Given the description of an element on the screen output the (x, y) to click on. 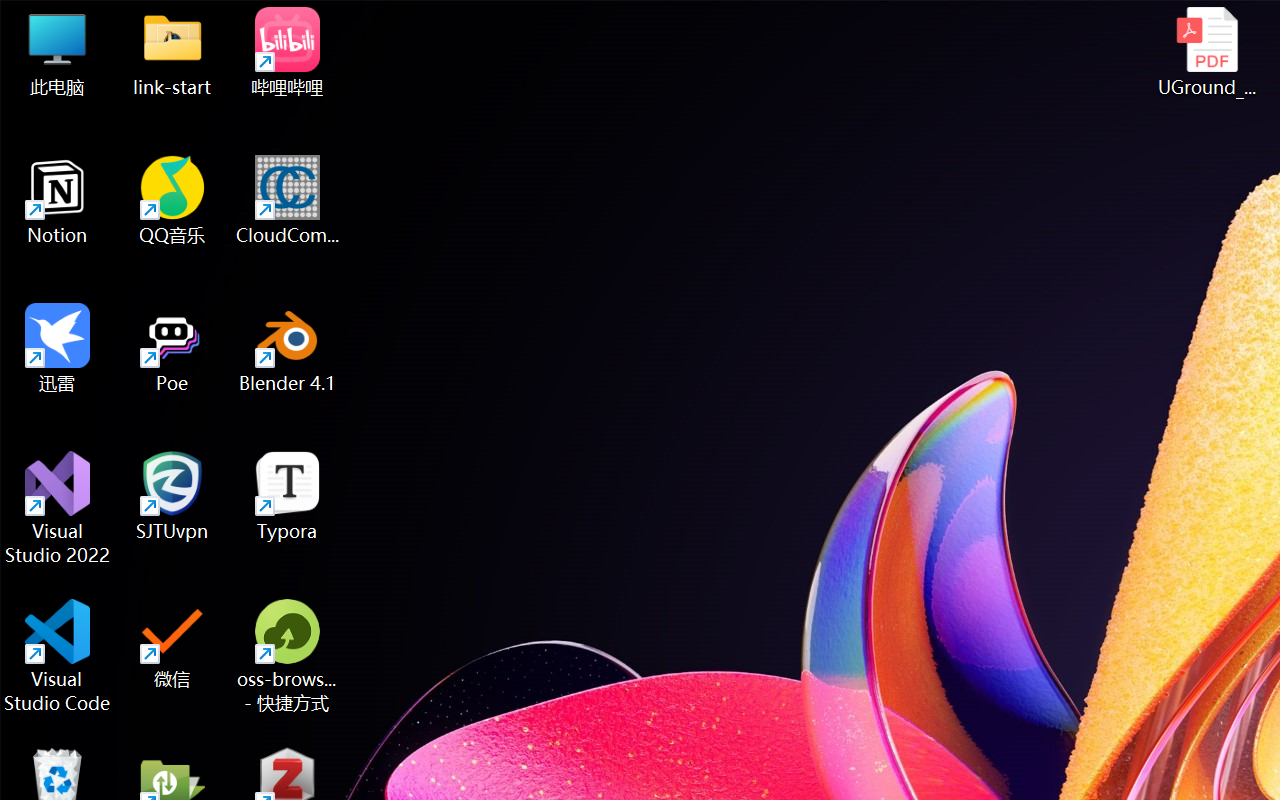
CloudCompare (287, 200)
UGround_paper.pdf (1206, 52)
Typora (287, 496)
Visual Studio Code (57, 656)
Visual Studio 2022 (57, 508)
SJTUvpn (172, 496)
Blender 4.1 (287, 348)
